Given the description of an element on the screen output the (x, y) to click on. 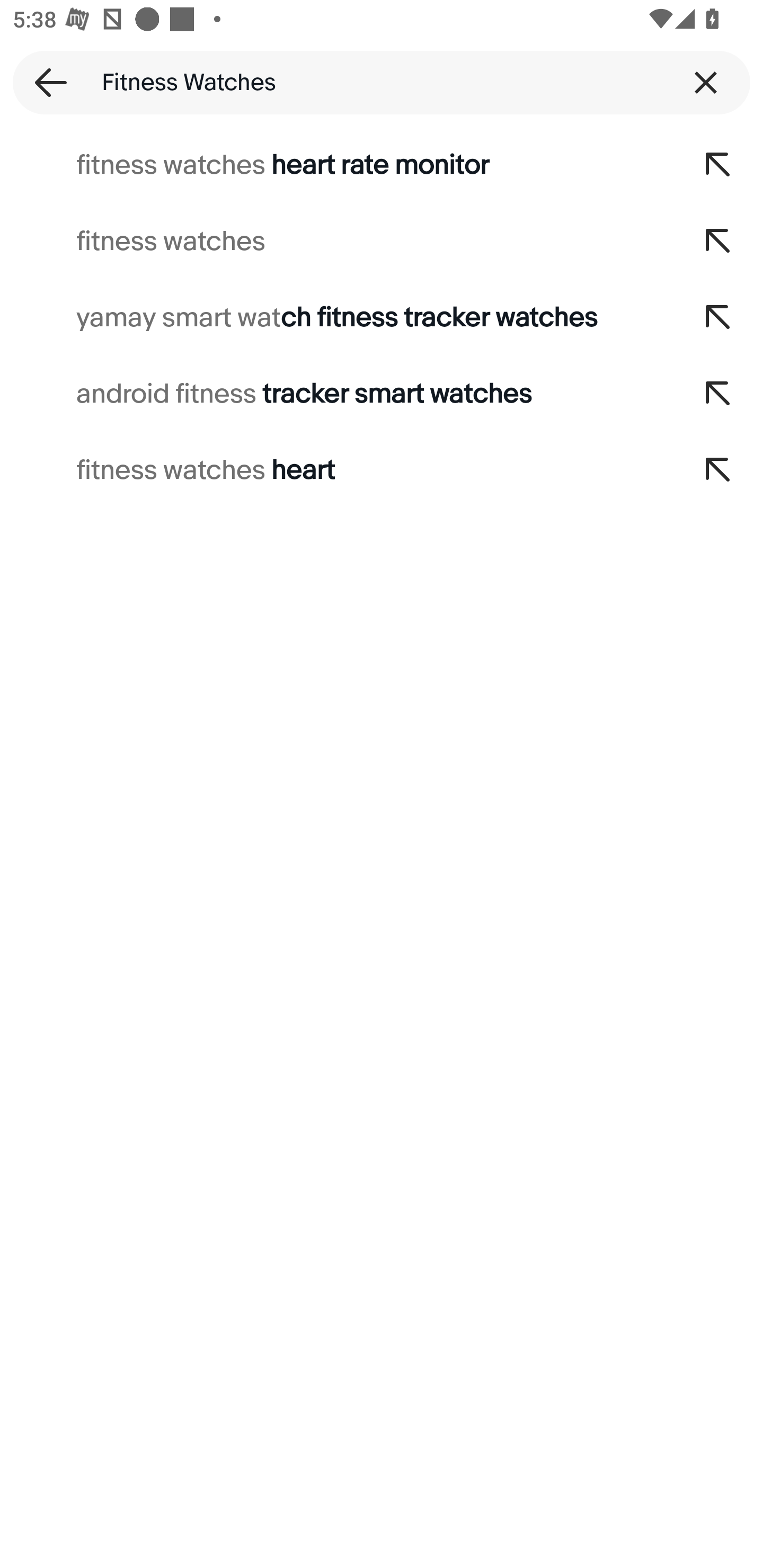
Back (44, 82)
Clear query (705, 82)
Fitness Watches (381, 82)
fitness watches heart rate monitor (336, 165)
fitness watches (336, 241)
Add to search query,fitness watches (718, 241)
yamay smart watch fitness tracker watches (336, 317)
android fitness tracker smart watches (336, 393)
fitness watches heart (336, 470)
Add to search query,fitness watches heart (718, 470)
